Given the description of an element on the screen output the (x, y) to click on. 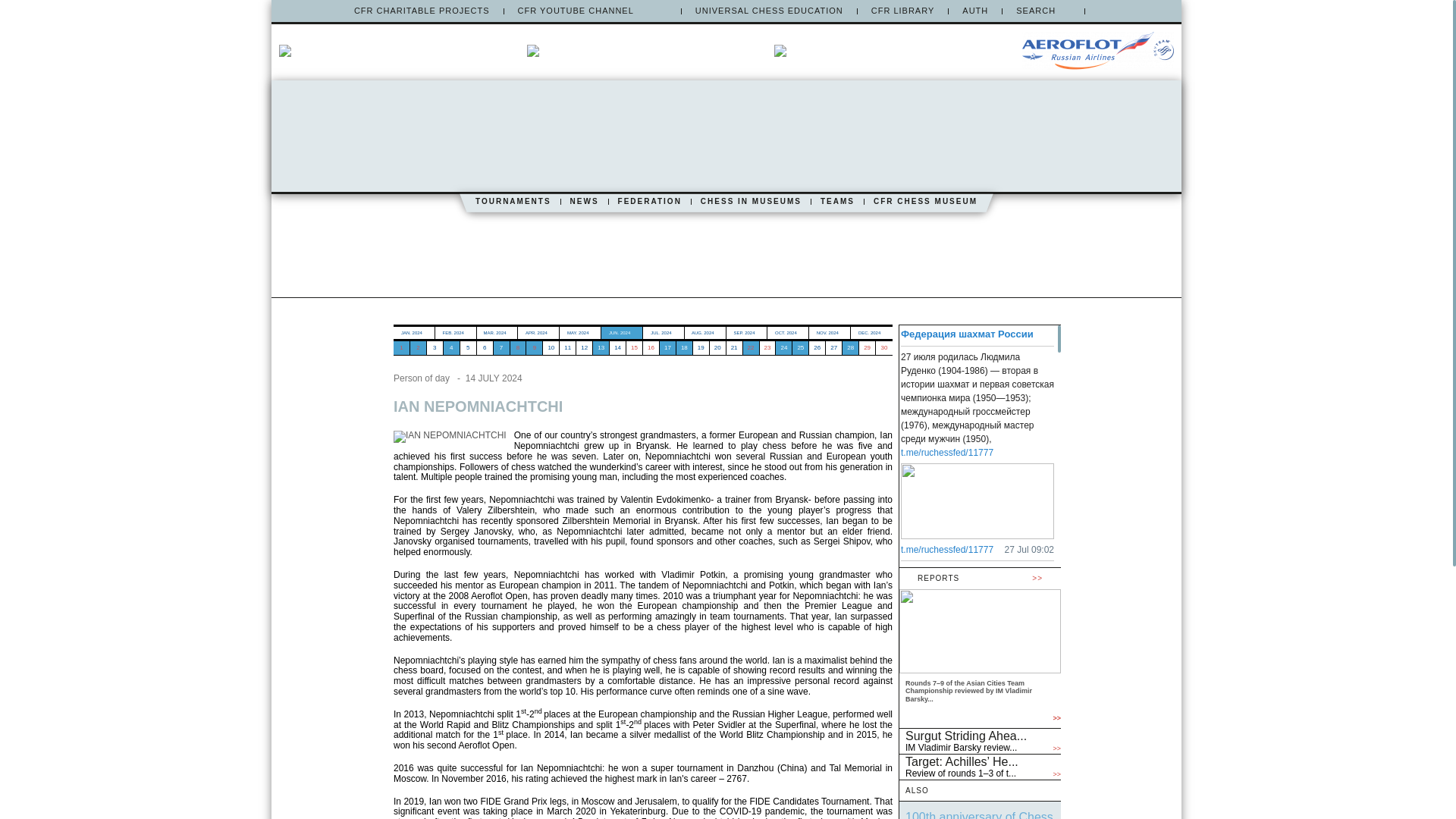
FEDERATION (649, 201)
CFR CHESS MUSEUM (924, 201)
FEB. 2024 (455, 332)
JAN. 2024 (413, 332)
CFR YOUTUBE CHANNEL (592, 11)
UNIVERSAL CHESS EDUCATION (769, 10)
APR. 2024 (538, 332)
AUTH (975, 10)
CFR LIBRARY (902, 10)
MAR. 2024 (497, 332)
NEWS (584, 201)
TOURNAMENTS (513, 201)
CHESS IN MUSEUMS (751, 201)
CFR CHARITABLE PROJECTS (421, 10)
SEARCH (1043, 10)
